Given the description of an element on the screen output the (x, y) to click on. 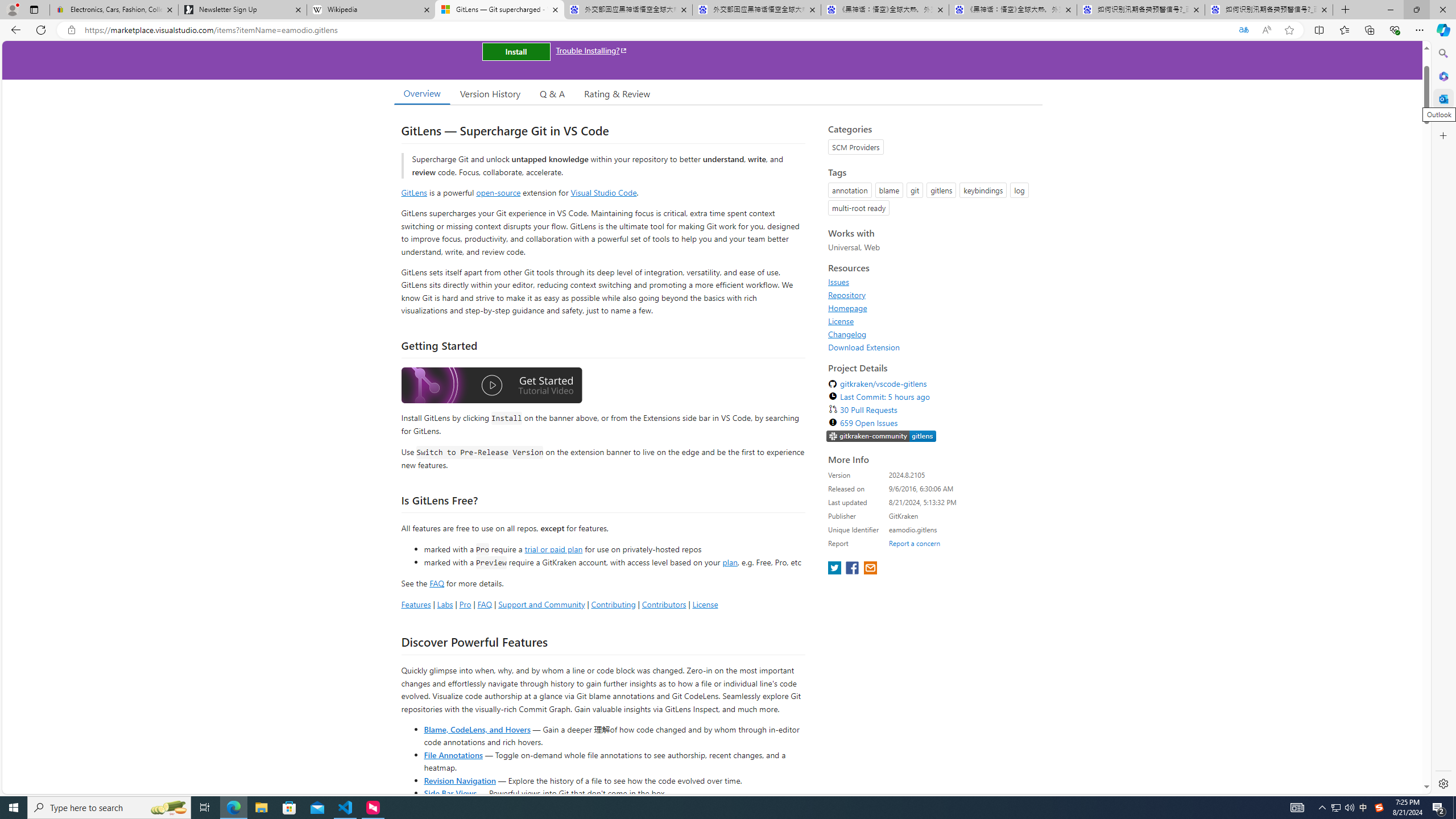
Issues (838, 281)
License (931, 320)
FAQ (484, 603)
Blame, CodeLens, and Hovers (476, 728)
Repository (931, 294)
Pro (464, 603)
Version History (489, 92)
plan (730, 562)
Labs (444, 603)
